Given the description of an element on the screen output the (x, y) to click on. 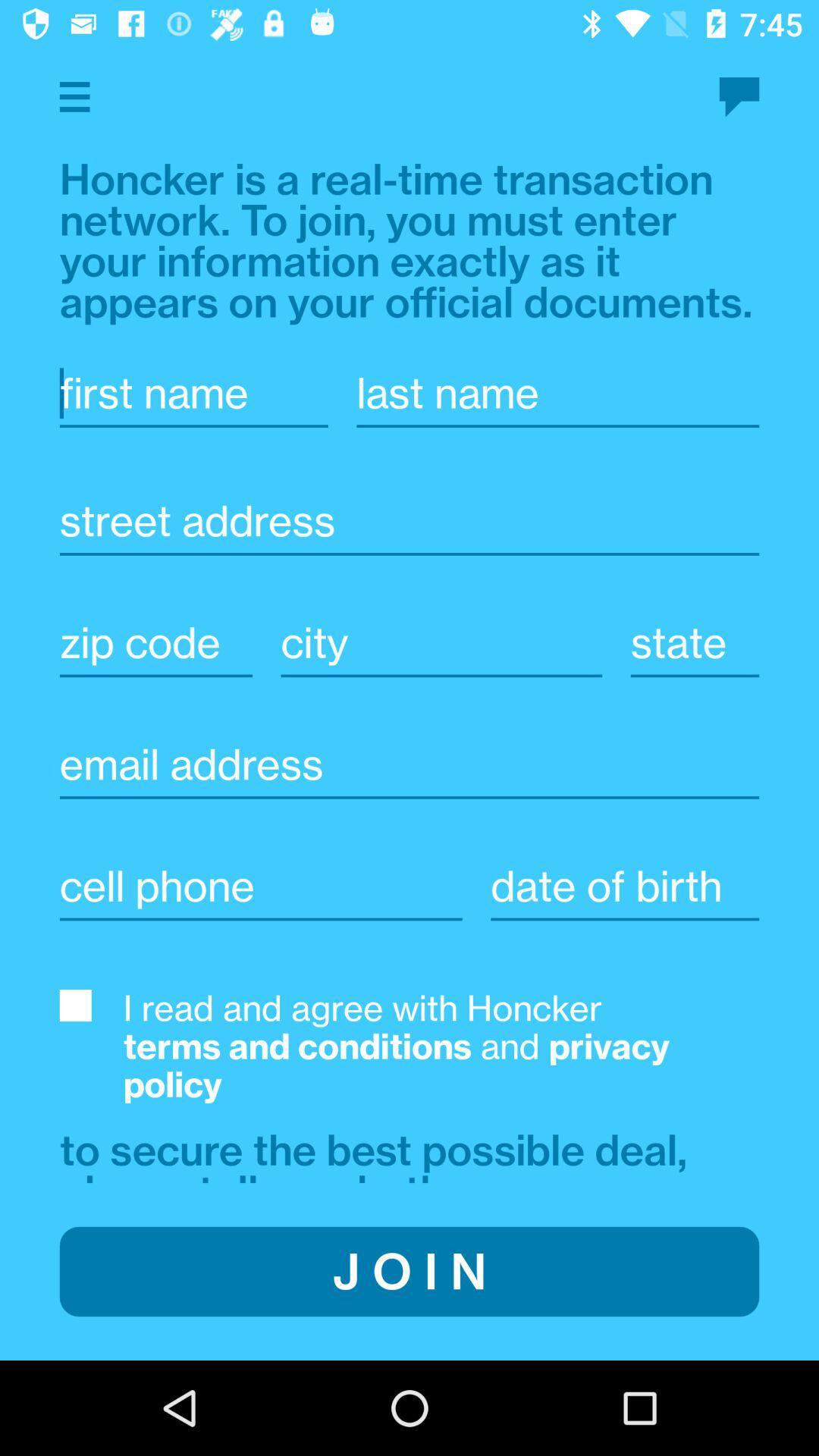
enter email address (409, 764)
